Given the description of an element on the screen output the (x, y) to click on. 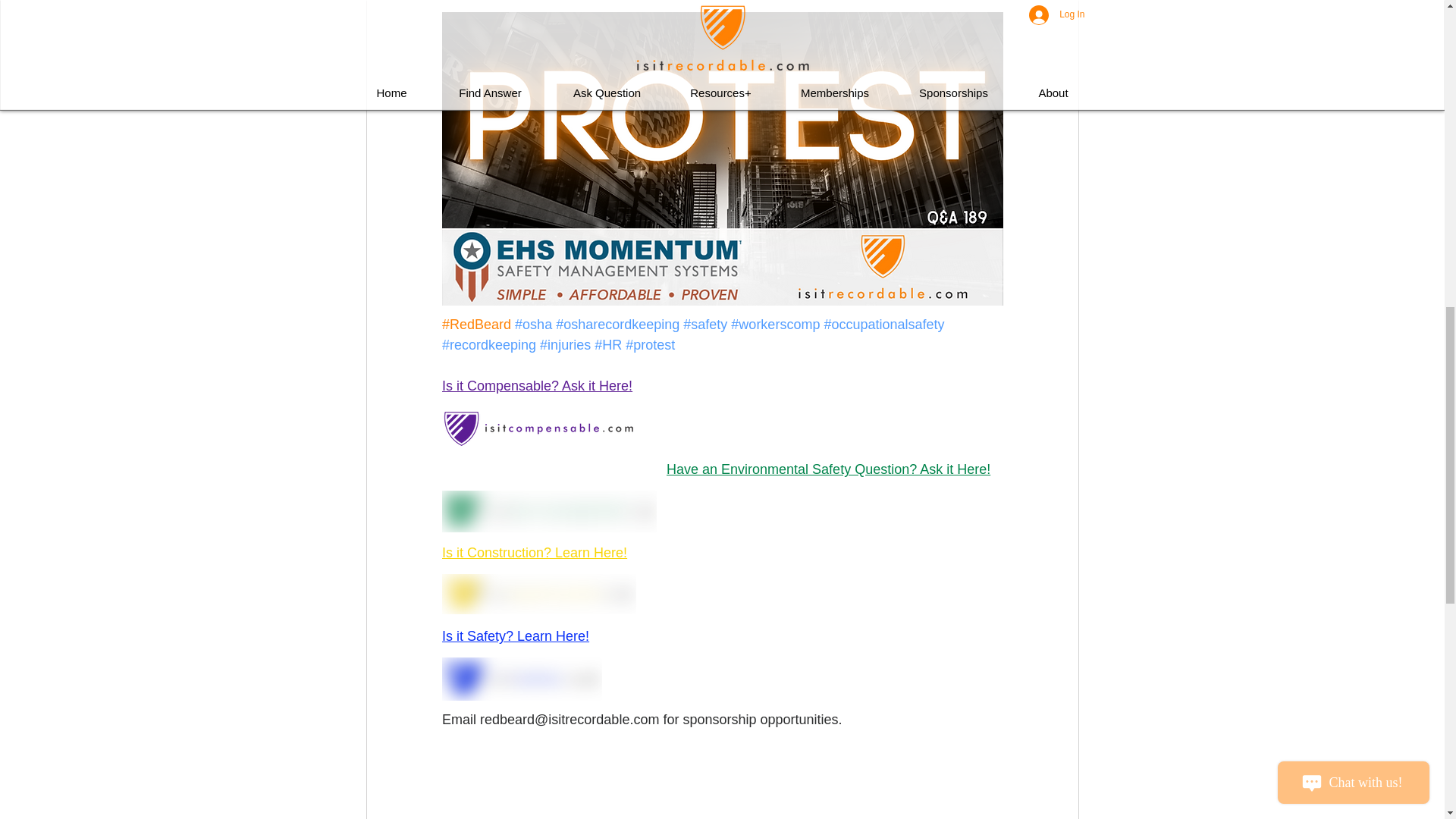
Is it Compensable? Ask it Here! (536, 385)
Is it Construction? Learn Here! (533, 552)
Have an Environmental Safety Question? Ask it Here! (827, 468)
Is it Safety? Learn Here! (514, 635)
